Given the description of an element on the screen output the (x, y) to click on. 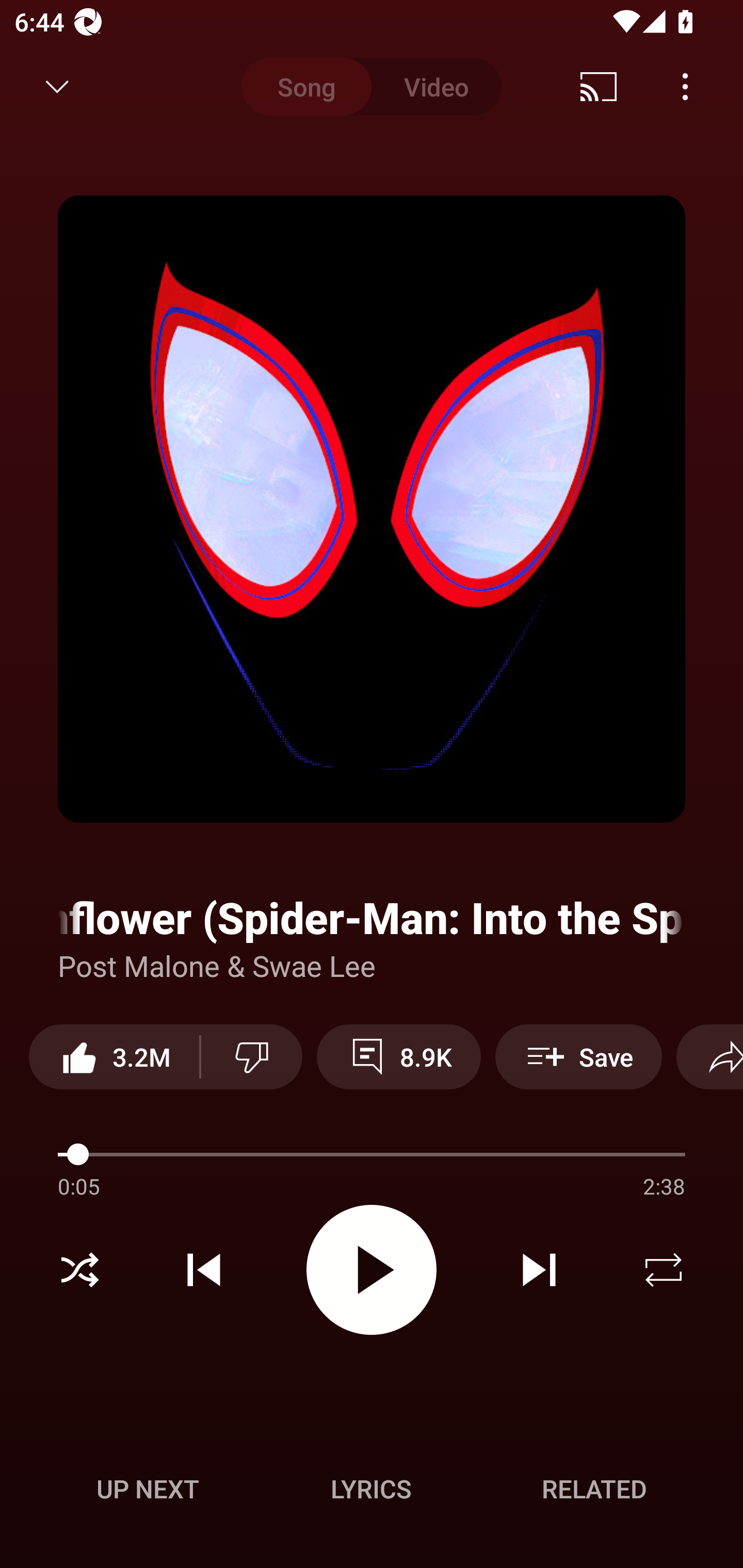
Minimize (57, 86)
Cast. Disconnected (598, 86)
Menu (684, 86)
Dislike (251, 1056)
8.9K View 8,905 comments (398, 1056)
Save Save to playlist (578, 1056)
Share (709, 1056)
Play video (371, 1269)
Shuffle on (79, 1269)
Previous track (203, 1269)
Next track (538, 1269)
Repeat off (663, 1269)
Up next UP NEXT Lyrics LYRICS Related RELATED (371, 1491)
Lyrics LYRICS (370, 1488)
Related RELATED (594, 1488)
